Given the description of an element on the screen output the (x, y) to click on. 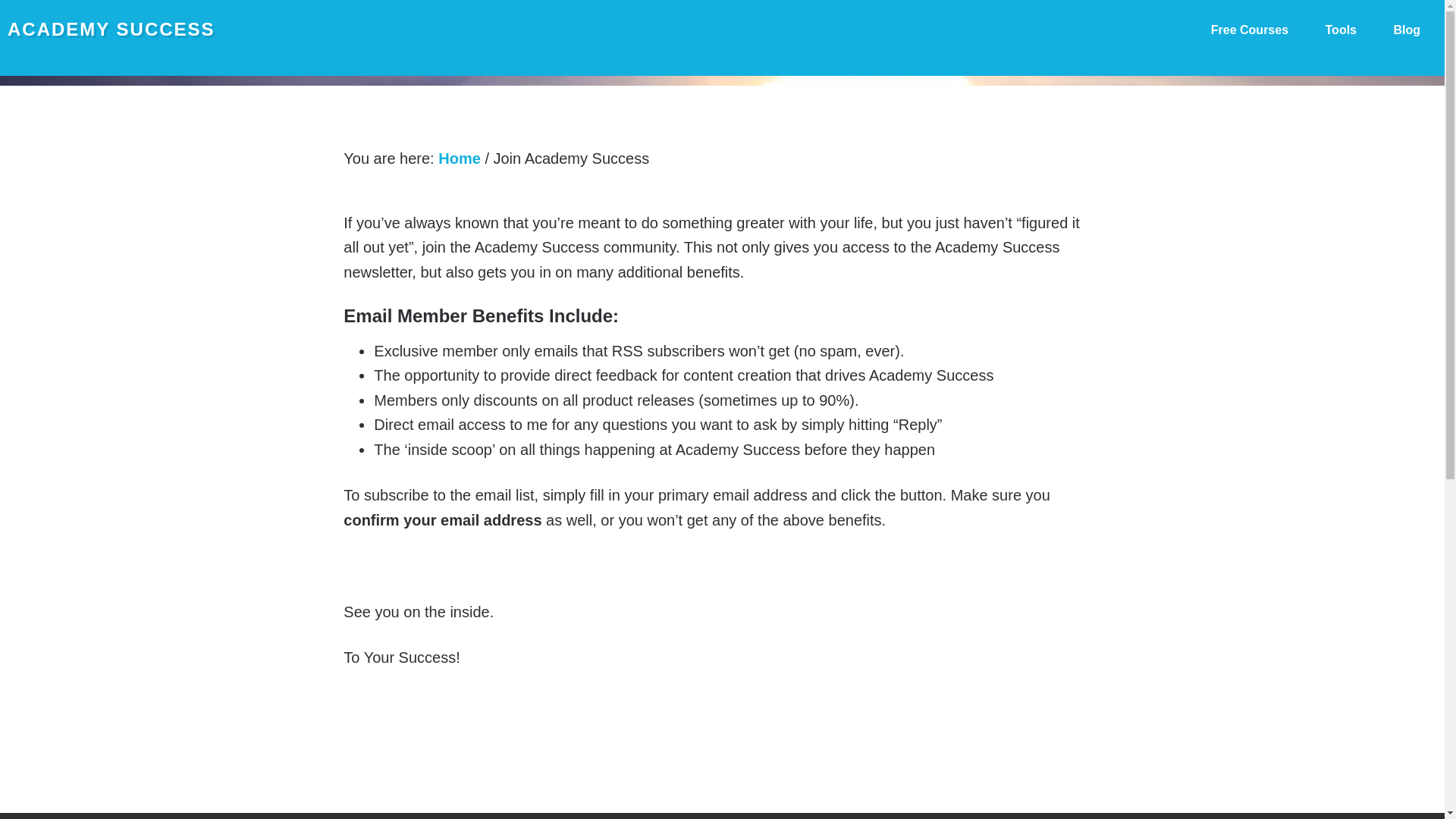
Free Courses (1248, 30)
ACADEMY SUCCESS (111, 28)
Tools (1340, 30)
Home (459, 158)
Blog (1406, 30)
